Given the description of an element on the screen output the (x, y) to click on. 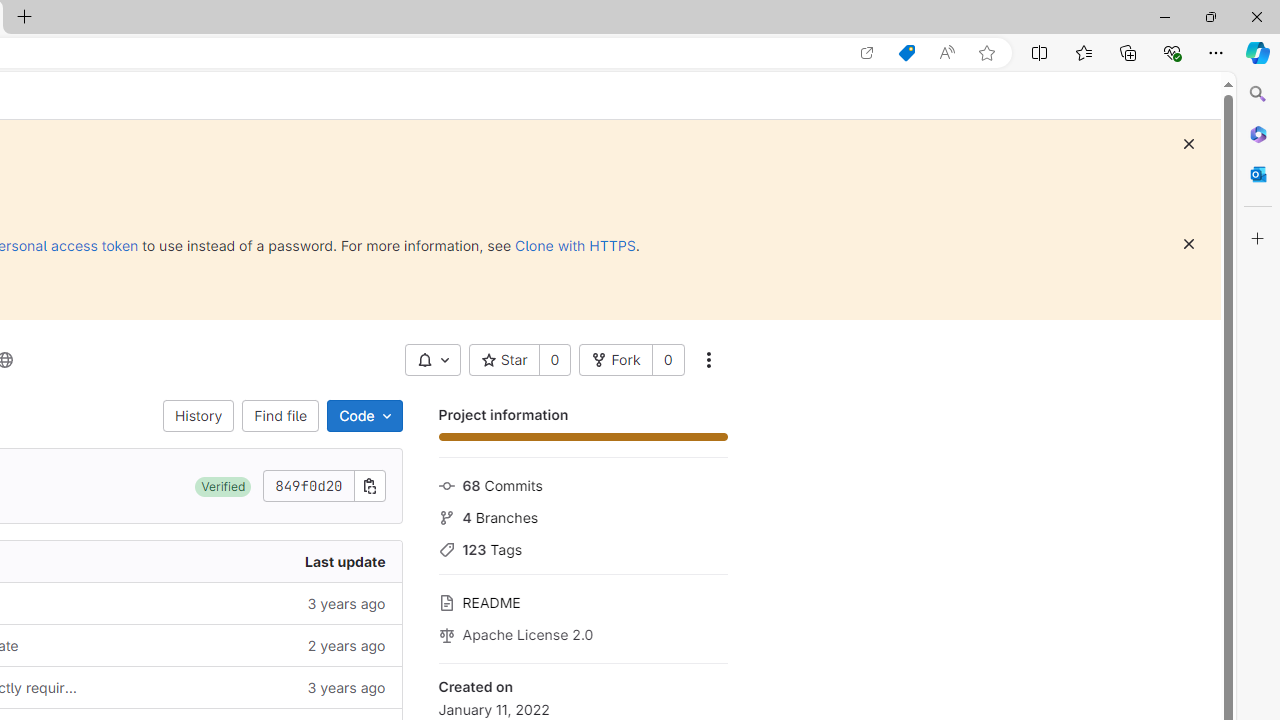
README (582, 600)
History (198, 416)
68 Commits (582, 484)
Apache License 2.0 (582, 633)
Fork (615, 359)
123 Tags (582, 548)
2 years ago (247, 645)
Find file (280, 416)
4 Branches (582, 515)
 Star (504, 359)
